Given the description of an element on the screen output the (x, y) to click on. 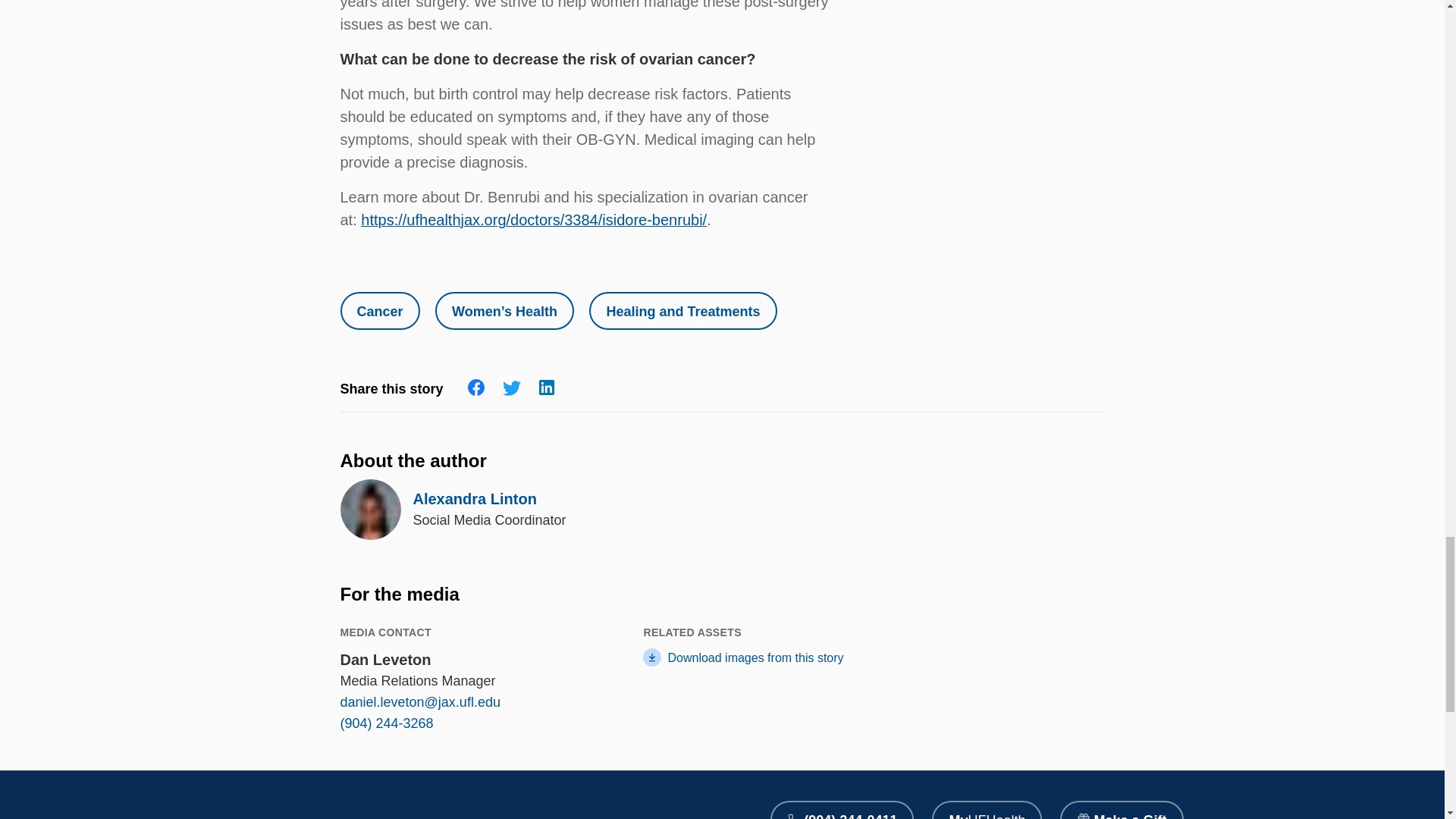
Alexandra Linton (473, 498)
University of Florida Health (310, 809)
Healing and Treatments (682, 310)
Cancer (379, 310)
University of Florida (452, 812)
Download images from this story (770, 658)
Twitter (511, 388)
LinkedIn (546, 387)
Facebook (475, 387)
